Given the description of an element on the screen output the (x, y) to click on. 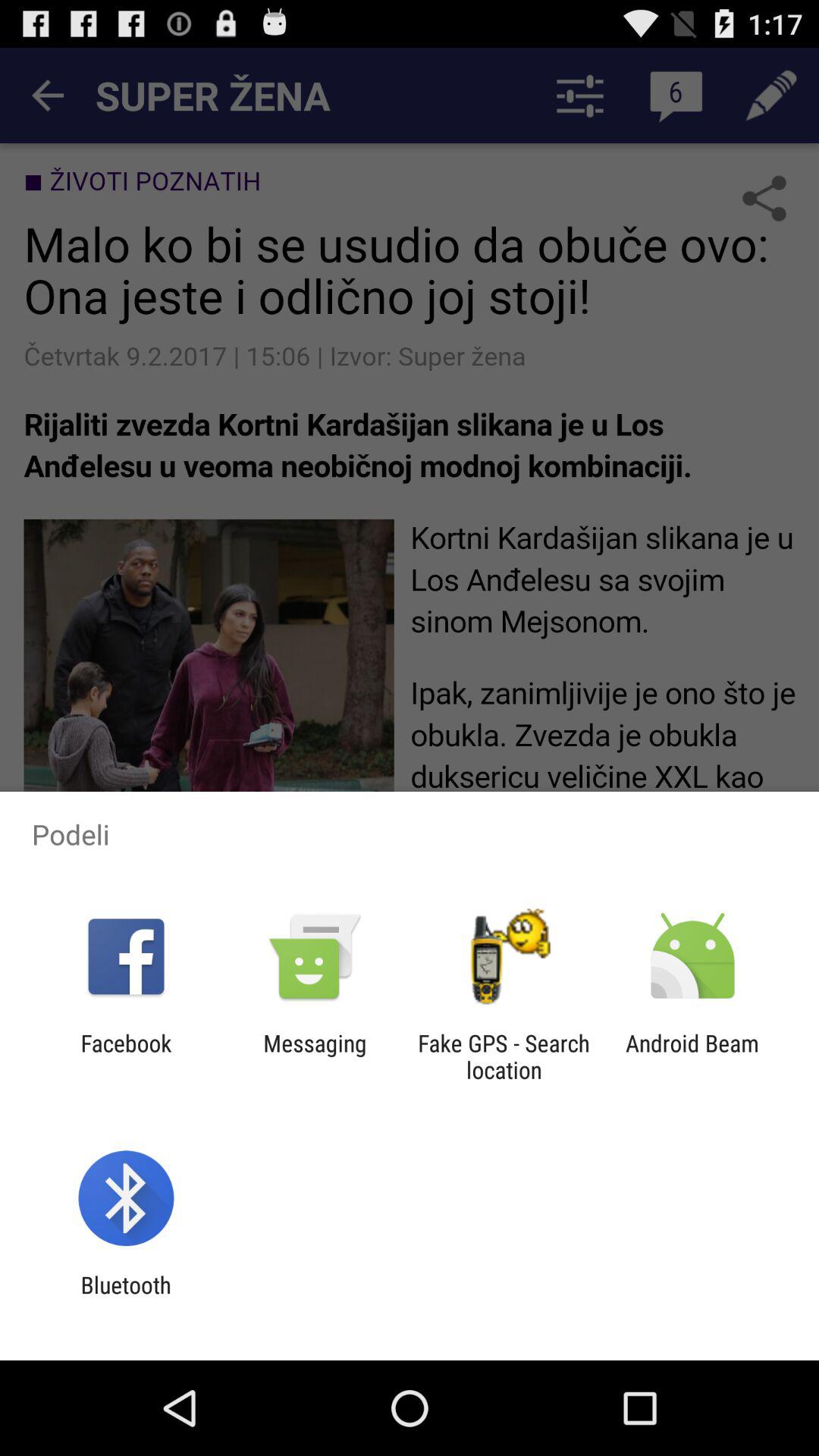
tap item next to fake gps search (314, 1056)
